Given the description of an element on the screen output the (x, y) to click on. 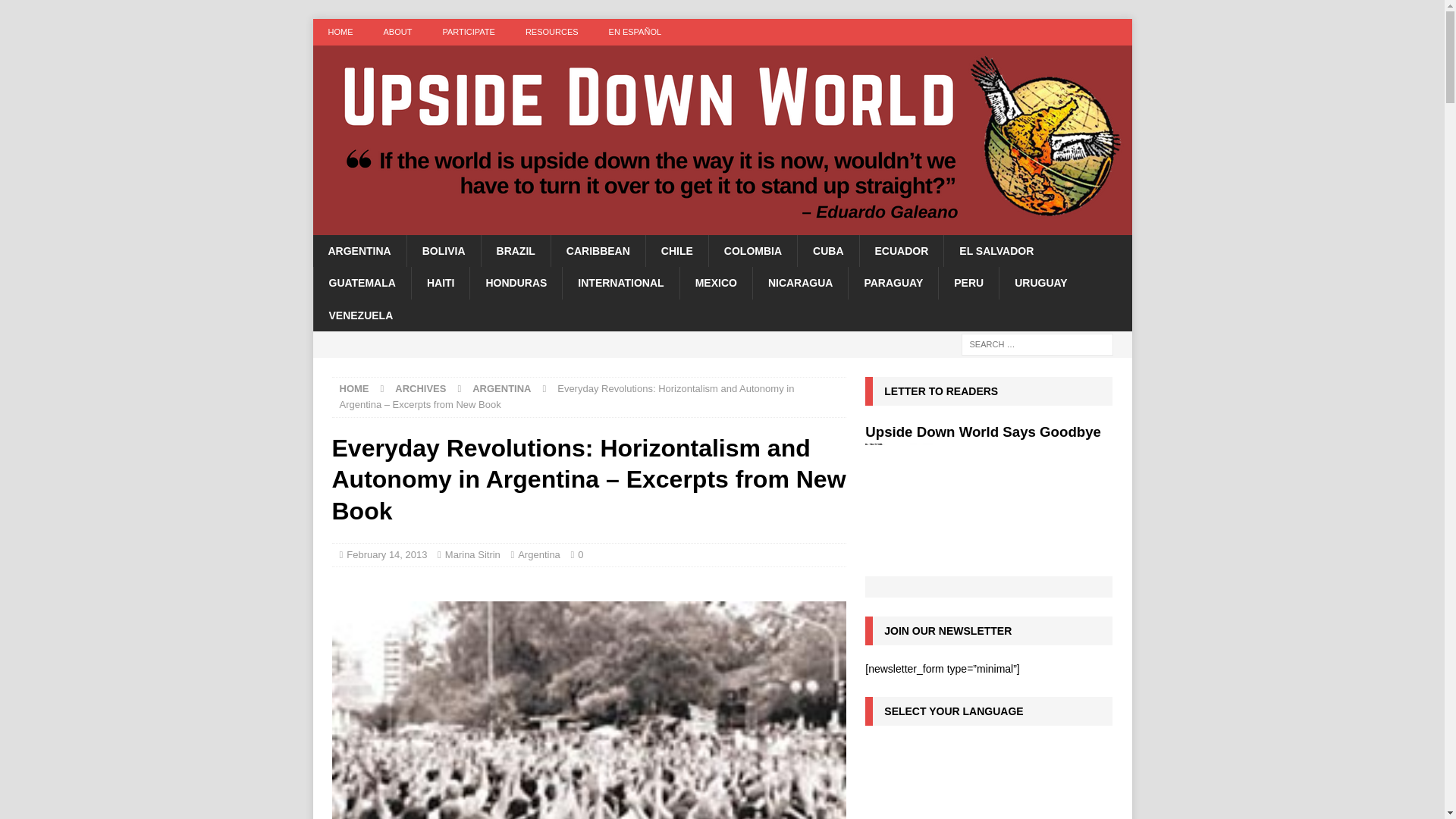
Upside Down World (722, 226)
HAITI (440, 282)
INTERNATIONAL (620, 282)
0-1-0-everydayrevolutions1 (588, 710)
PARAGUAY (892, 282)
BOLIVIA (443, 250)
BRAZIL (515, 250)
ARCHIVES (419, 388)
HOME (354, 388)
RESOURCES (552, 31)
